Given the description of an element on the screen output the (x, y) to click on. 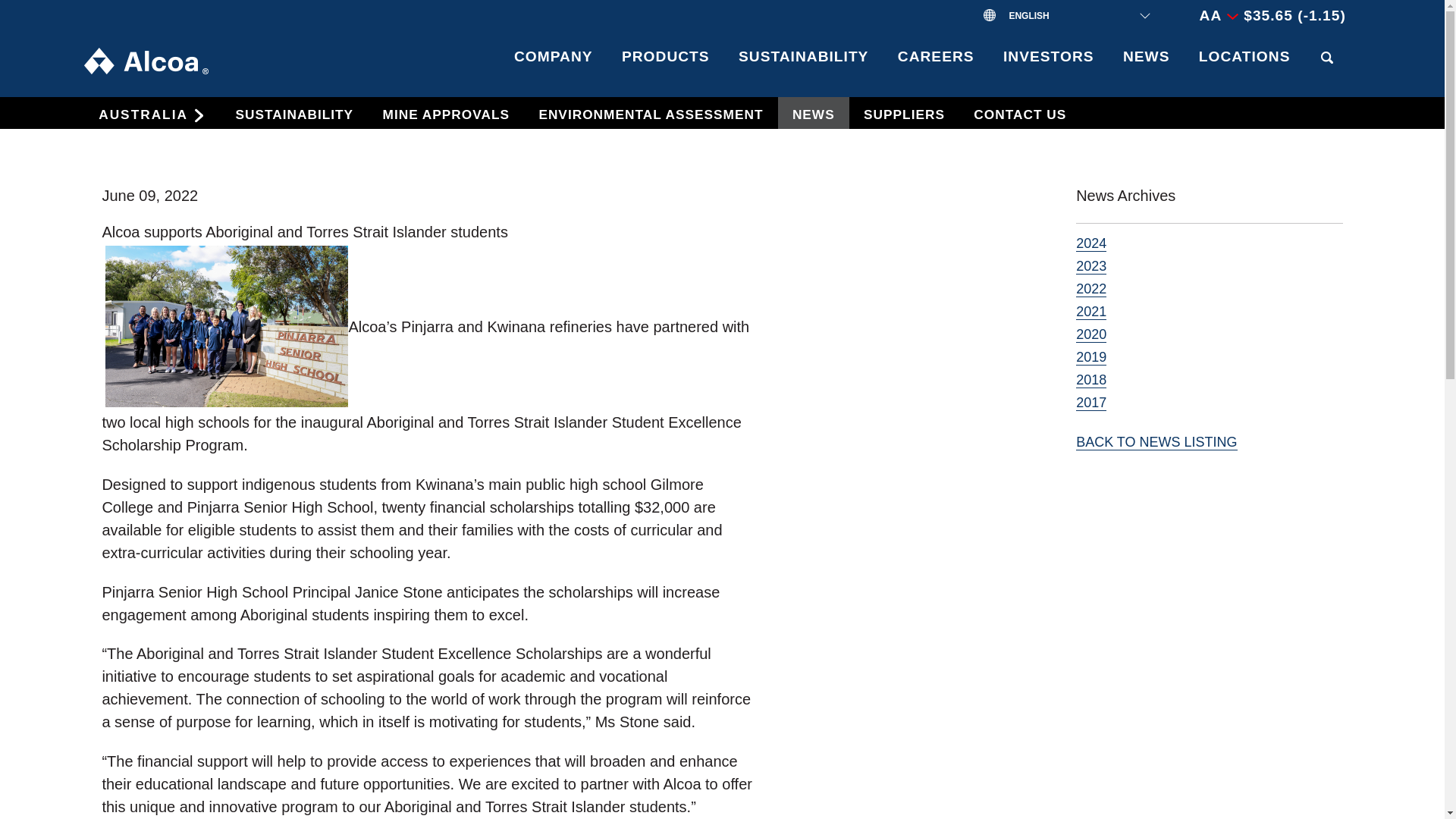
PRODUCTS (665, 64)
COMPANY (553, 64)
CAREERS (935, 64)
SUSTAINABILITY (803, 64)
NEWS (1146, 64)
INVESTORS (1048, 64)
PIN winners (225, 326)
LOCATIONS (1244, 64)
